Given the description of an element on the screen output the (x, y) to click on. 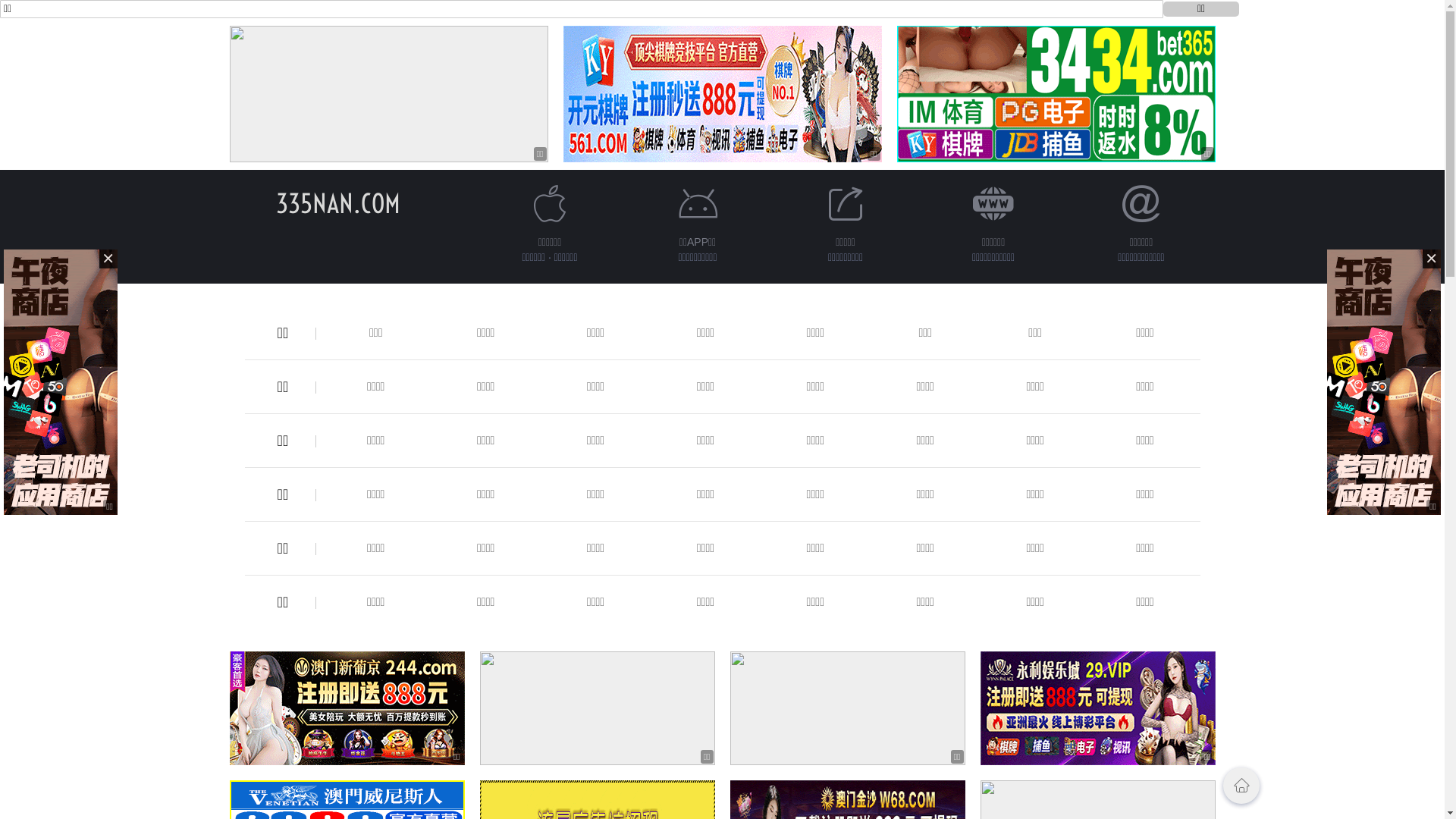
335NAN.COM Element type: text (338, 203)
